Given the description of an element on the screen output the (x, y) to click on. 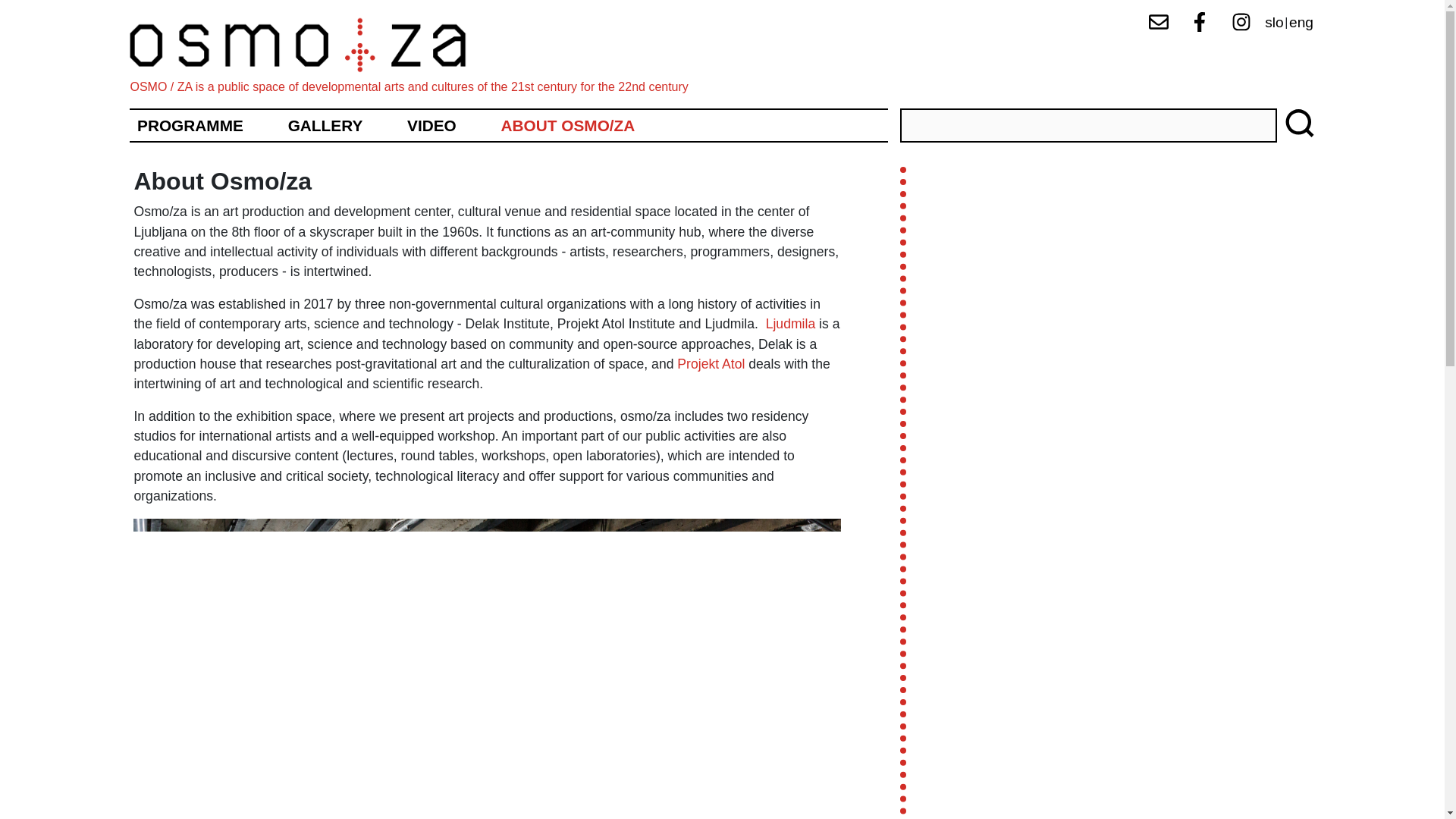
slo (1274, 22)
PROGRAMME (189, 125)
VIDEO (432, 125)
GALLERY (325, 125)
Home (311, 44)
Projekt Atol (710, 363)
Ljudmila (790, 323)
eng (1300, 22)
